Given the description of an element on the screen output the (x, y) to click on. 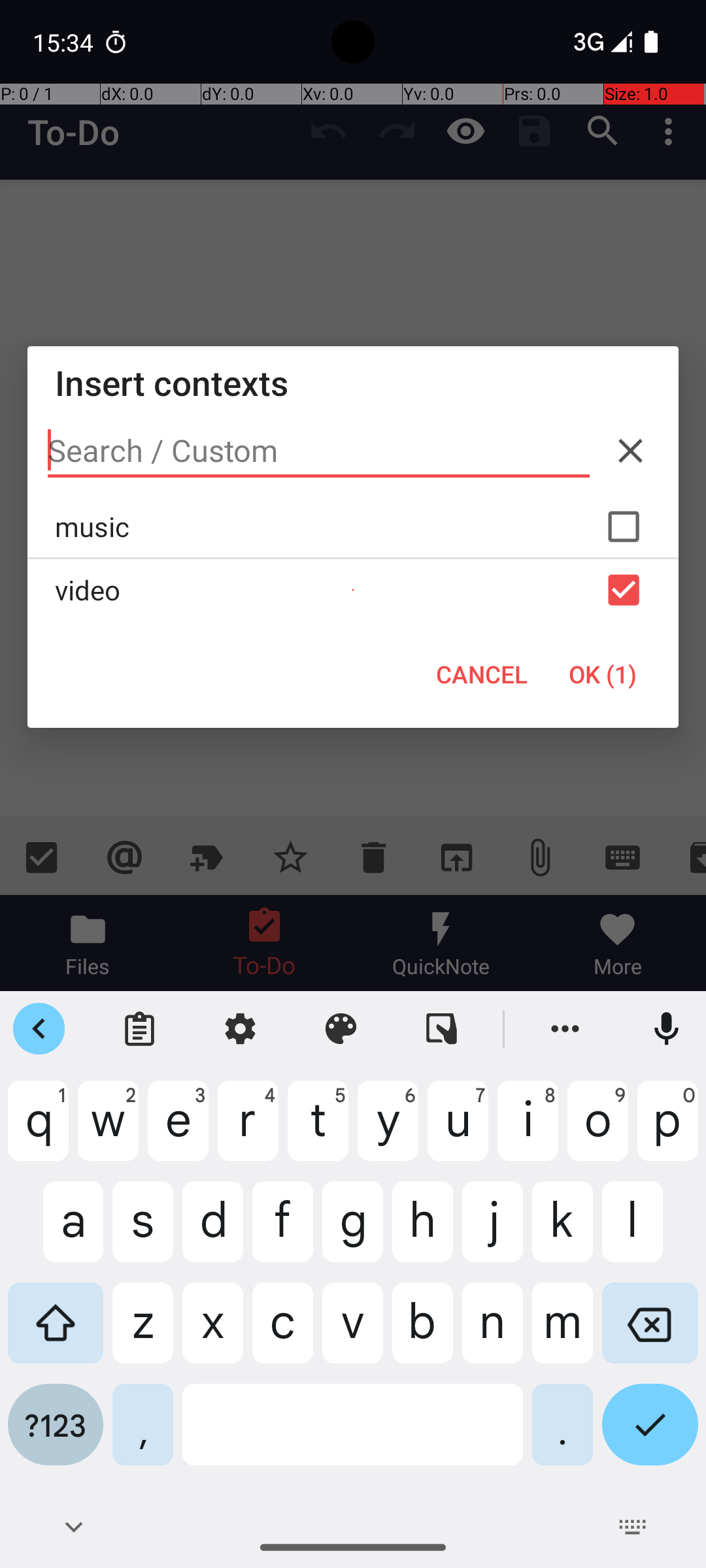
Insert contexts Element type: android.widget.TextView (352, 382)
Search / Custom Element type: android.widget.EditText (318, 450)
music Element type: android.widget.CheckedTextView (352, 526)
video Element type: android.widget.CheckedTextView (352, 589)
OK (1) Element type: android.widget.Button (602, 673)
